Given the description of an element on the screen output the (x, y) to click on. 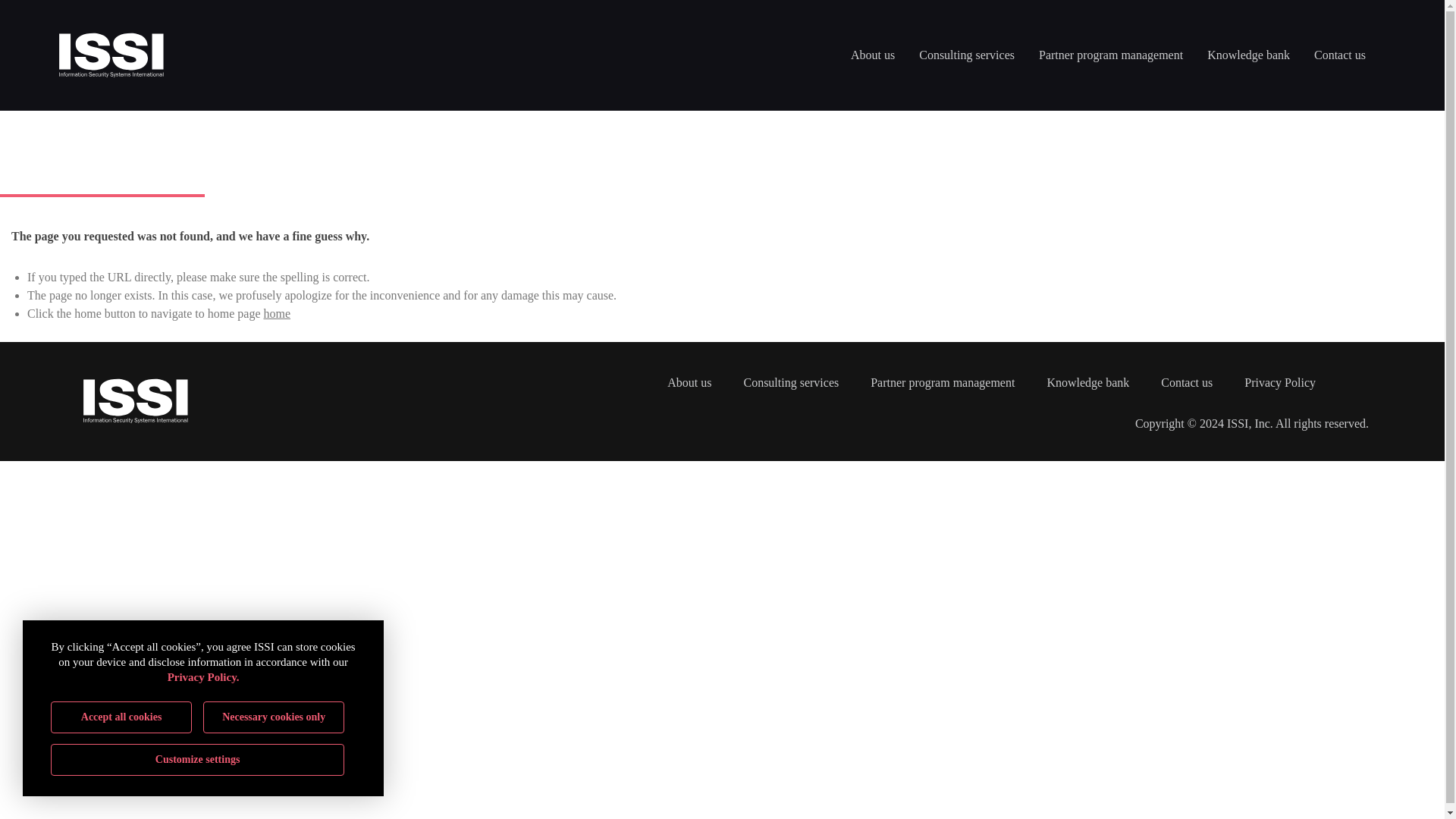
Contact us (1339, 55)
Consulting services (966, 55)
Partner program management (1110, 55)
About us (872, 55)
Knowledge bank (1248, 55)
